Given the description of an element on the screen output the (x, y) to click on. 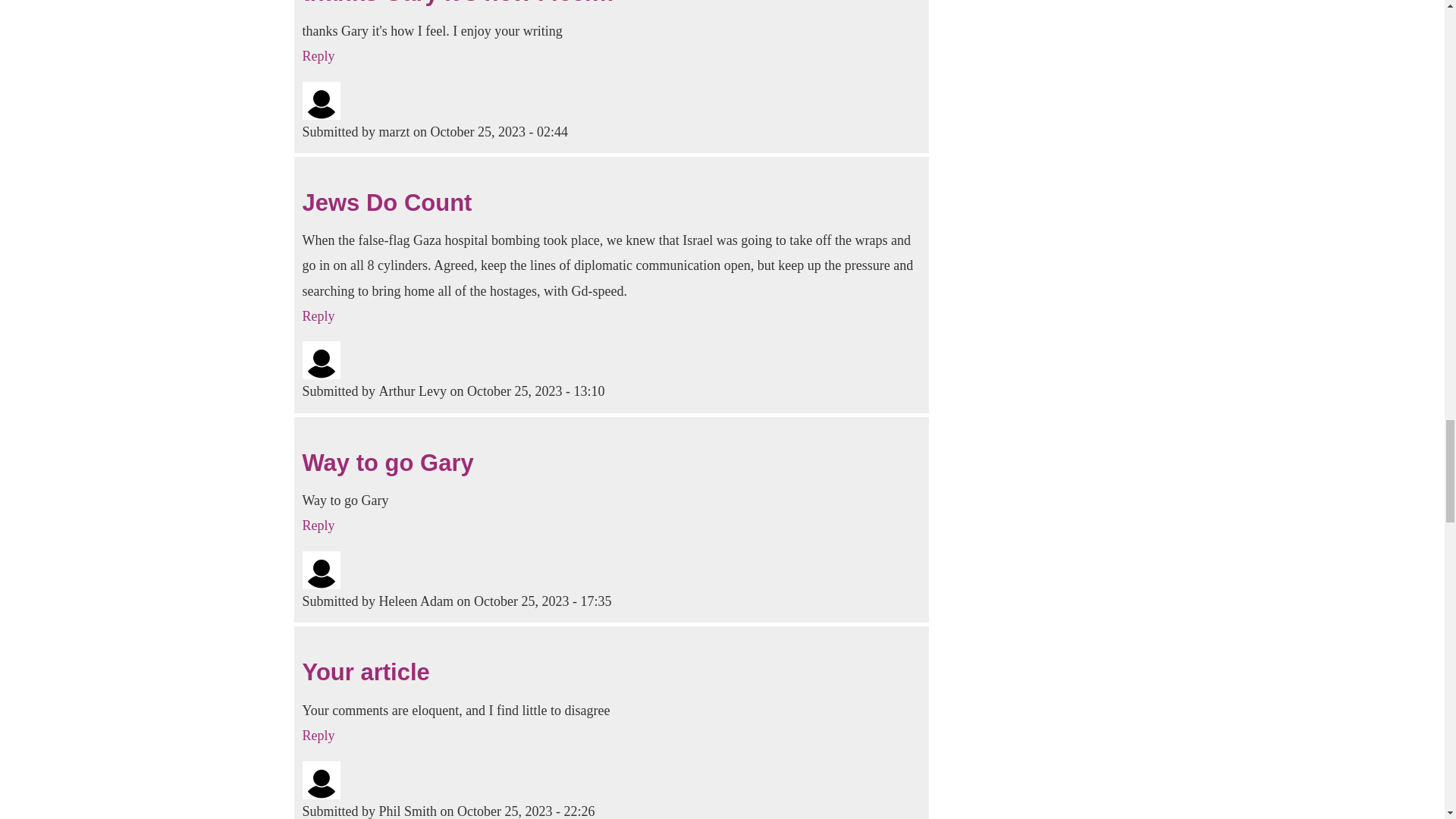
Jews Do Count (386, 202)
Reply (317, 315)
Your article (365, 672)
Reply (317, 525)
Way to go Gary (387, 462)
Reply (317, 55)
